Given the description of an element on the screen output the (x, y) to click on. 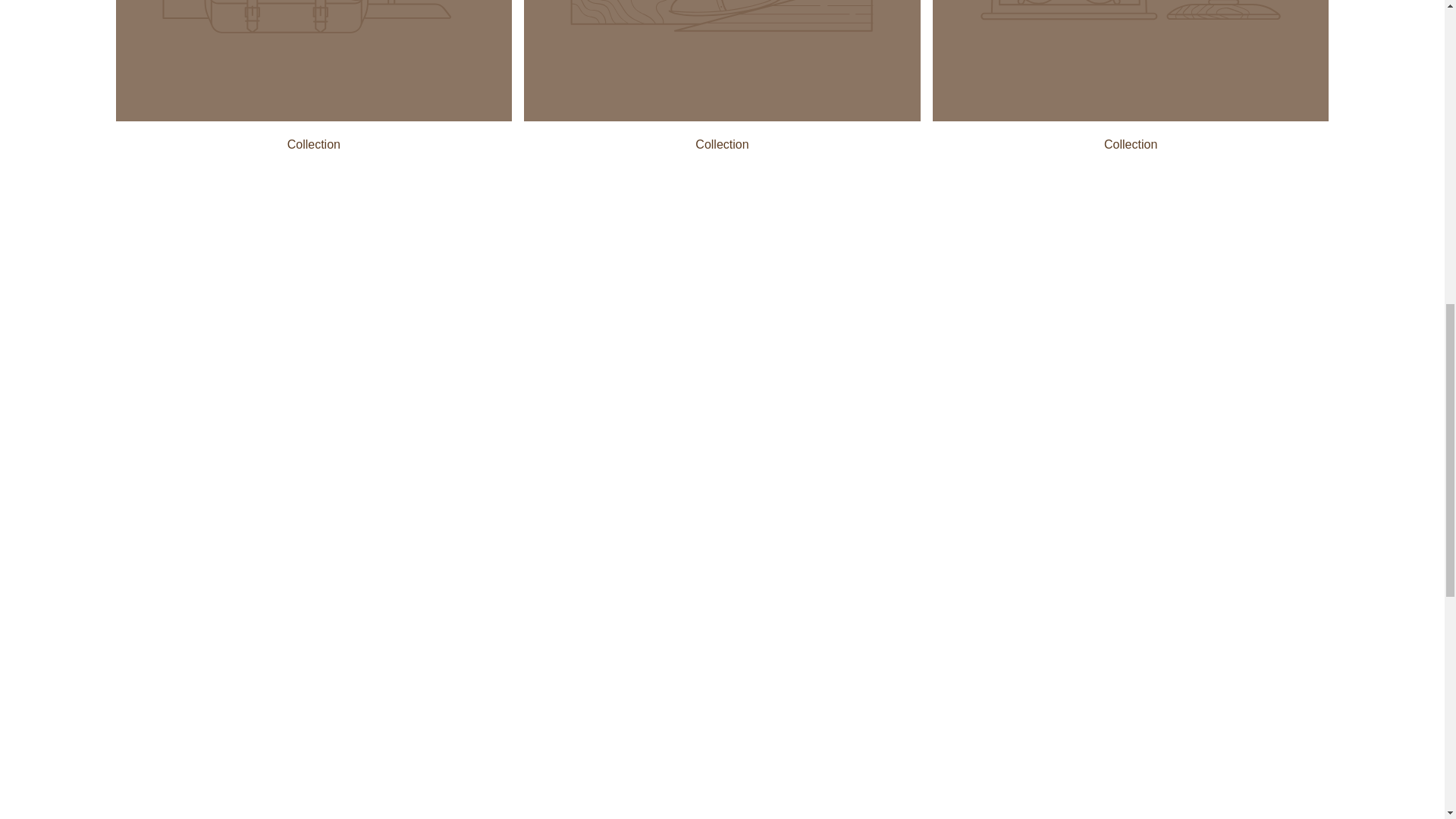
Collection image (1131, 116)
Collection (313, 144)
Collection (721, 144)
Collection image (722, 116)
Collection image (313, 116)
Collection (1130, 144)
